Given the description of an element on the screen output the (x, y) to click on. 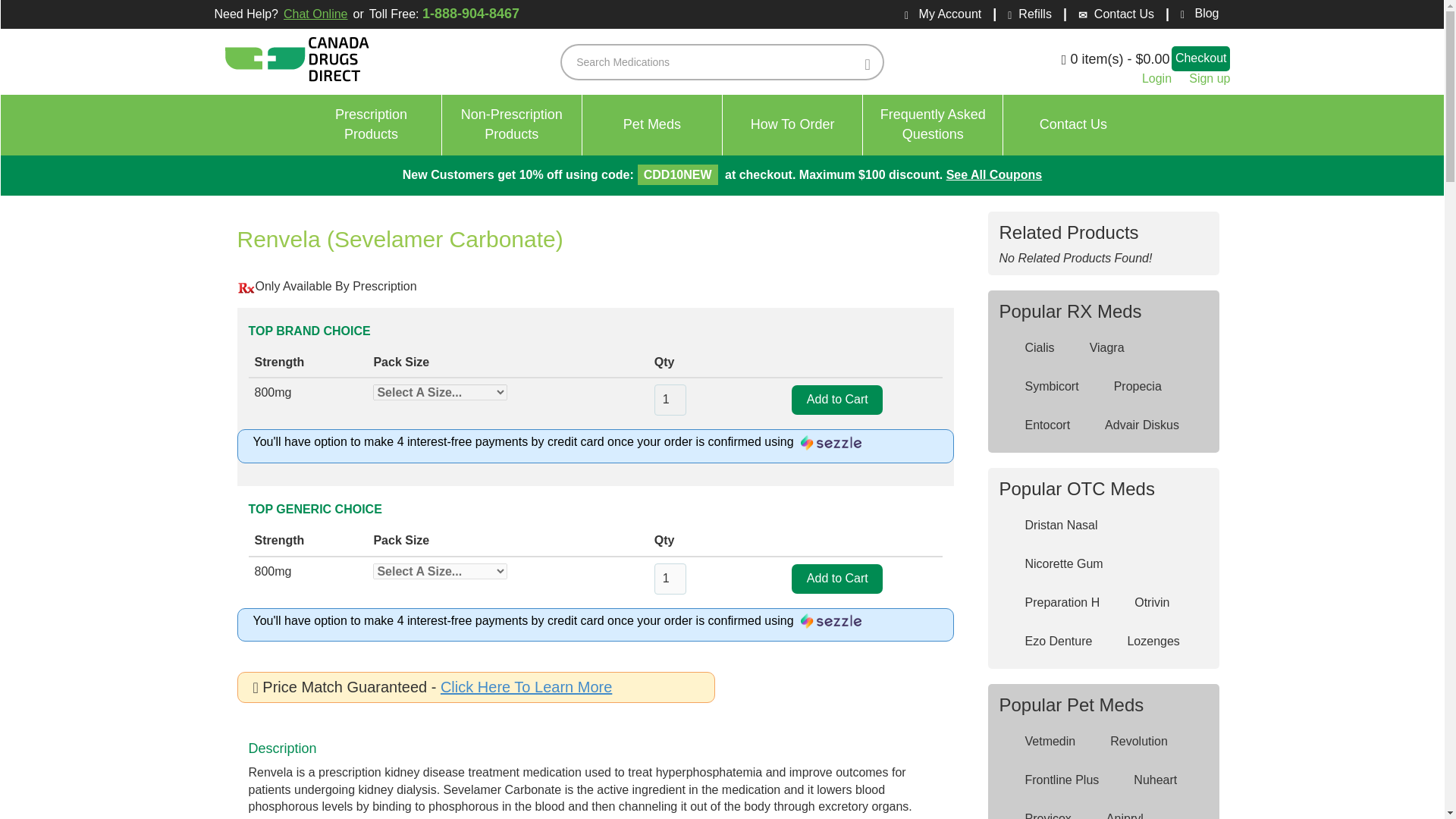
Add to Cart (837, 399)
Nicorette Gum (1053, 563)
Add to Cart (837, 399)
Sign up (1209, 78)
Add to Cart (837, 578)
Vetmedin (1039, 741)
Click Here To Learn More (526, 686)
Add to Cart (837, 578)
Contact Us (1072, 125)
Symbicort (1041, 387)
